Given the description of an element on the screen output the (x, y) to click on. 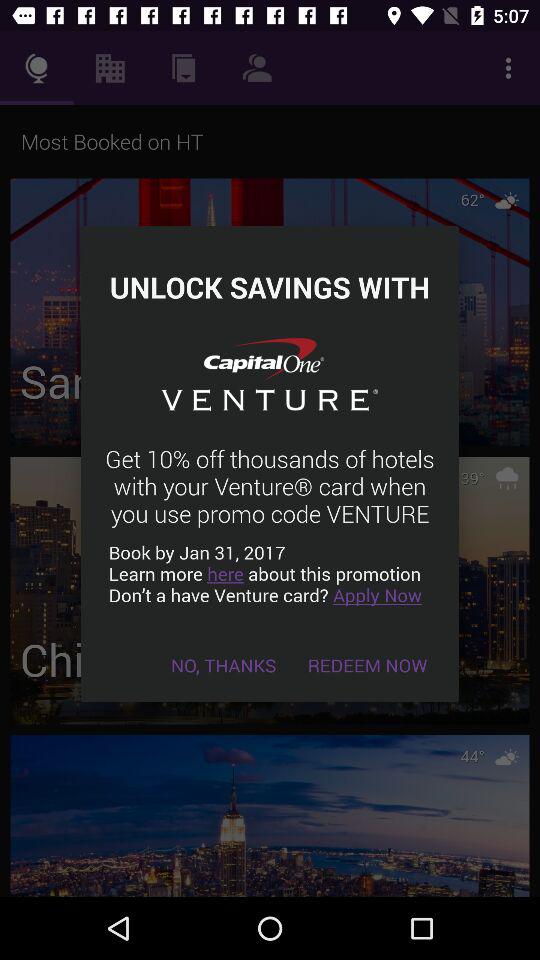
tap the item to the left of the redeem now icon (223, 664)
